Given the description of an element on the screen output the (x, y) to click on. 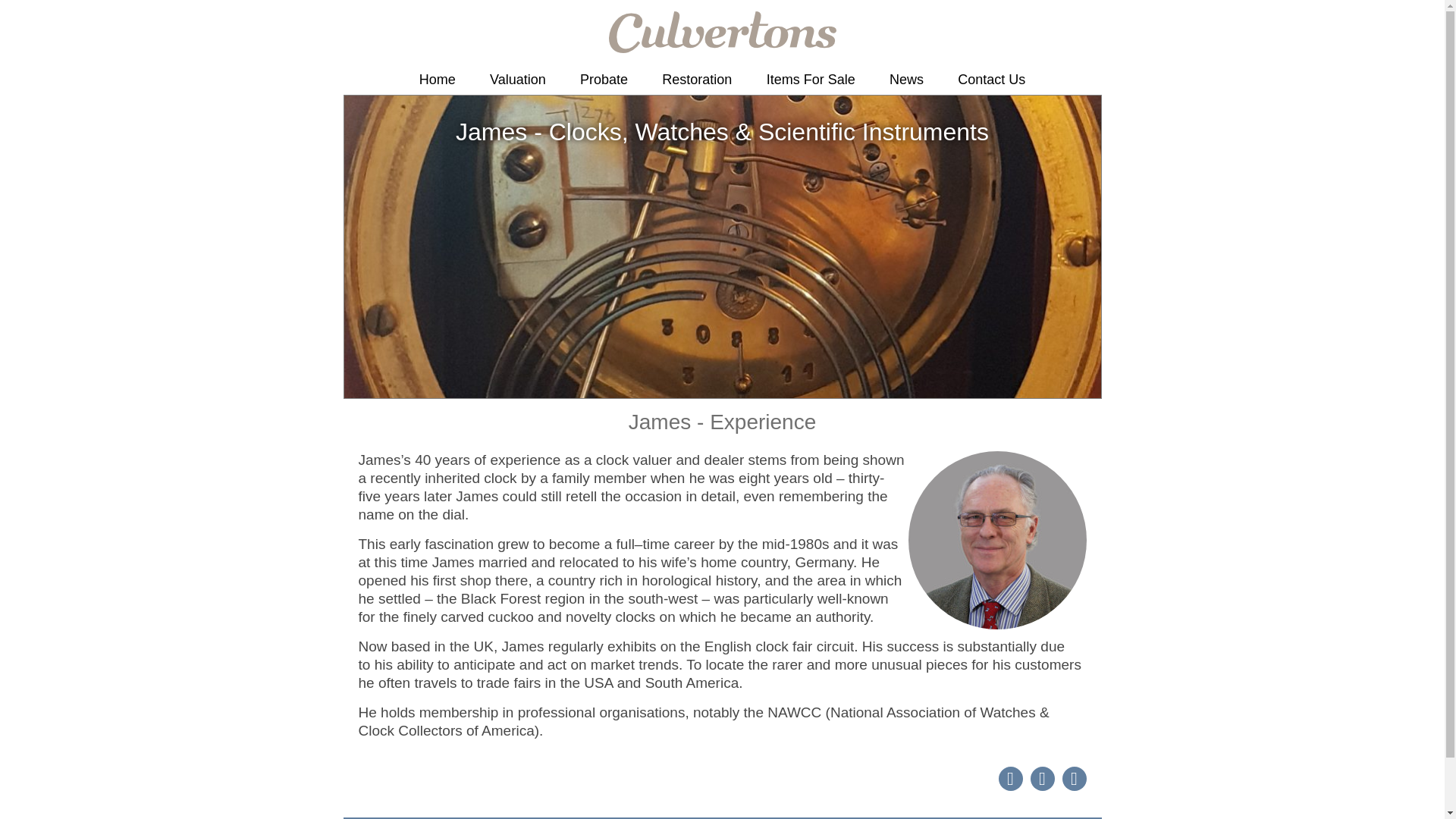
Instagram (1073, 778)
Contact Us (991, 79)
Restoration (696, 79)
Items For Sale (810, 79)
News (907, 79)
Probate (603, 79)
Home (437, 79)
Facebook (1041, 778)
Twitter (1009, 778)
Valuation (517, 79)
